Given the description of an element on the screen output the (x, y) to click on. 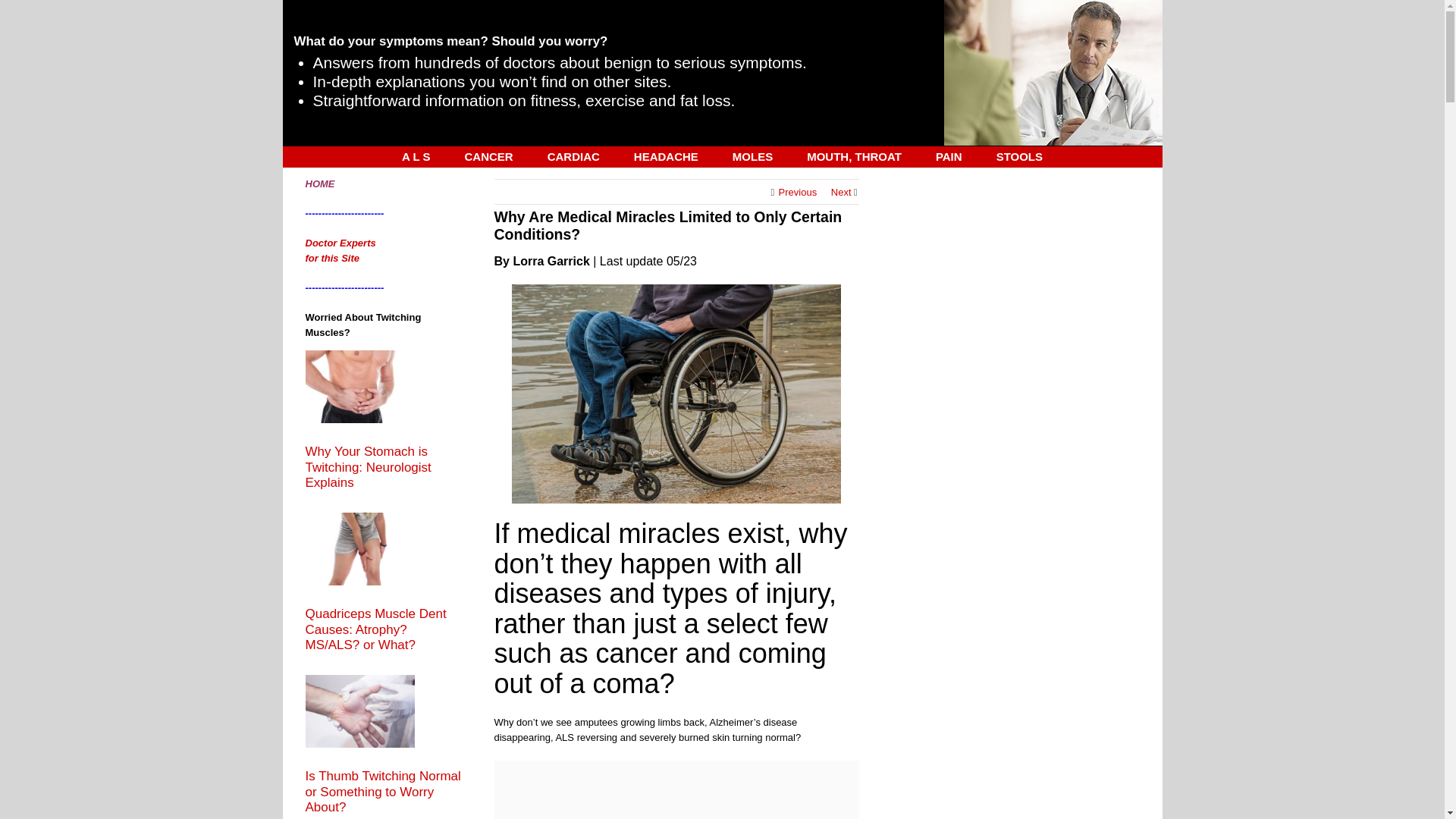
CANCER (488, 156)
A L S (415, 156)
CARDIAC (573, 156)
